Given the description of an element on the screen output the (x, y) to click on. 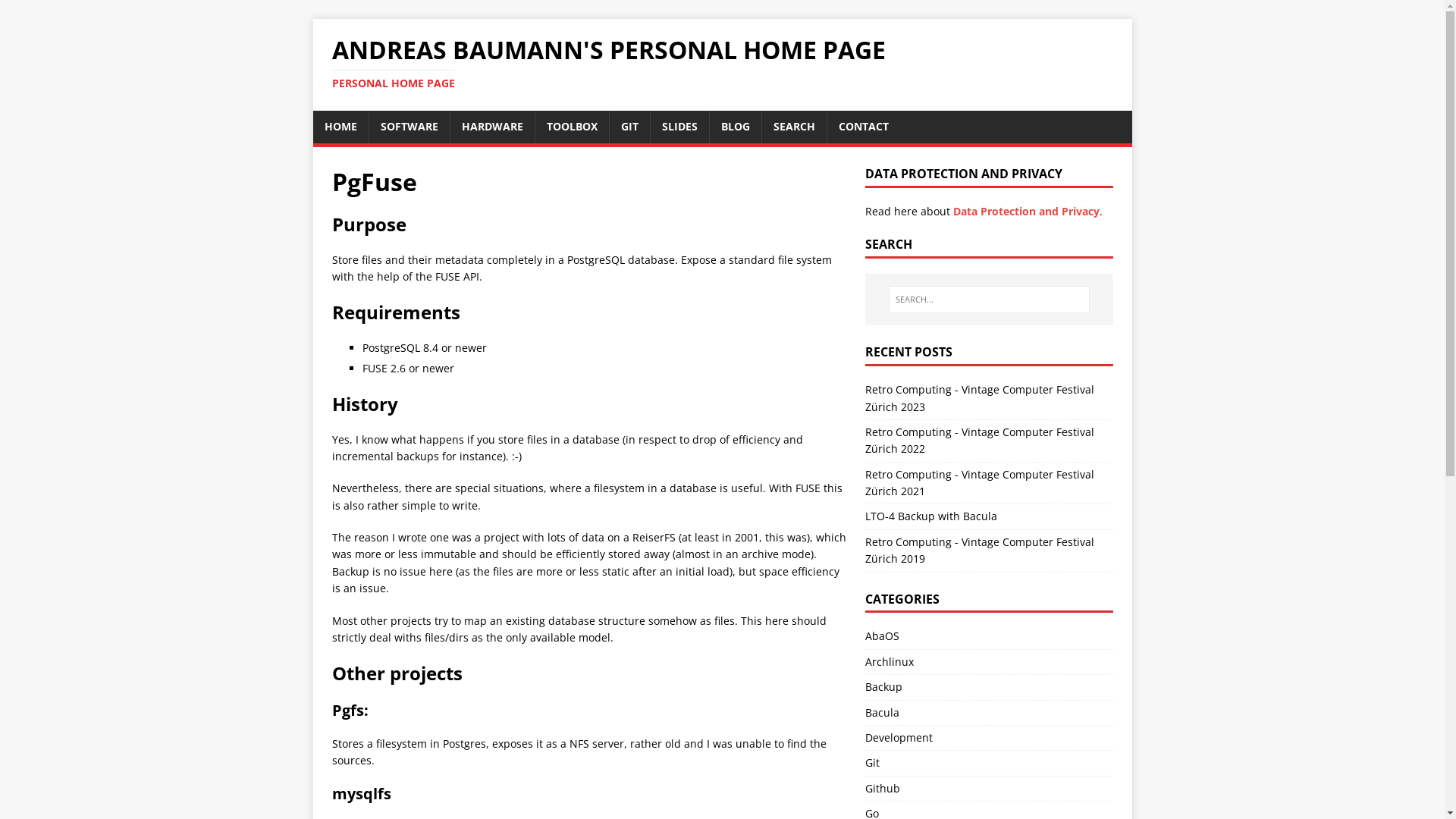
Development Element type: text (898, 737)
CONTACT Element type: text (862, 126)
BLOG Element type: text (735, 126)
SLIDES Element type: text (679, 126)
SOFTWARE Element type: text (408, 126)
AbaOS Element type: text (882, 635)
Bacula Element type: text (882, 712)
Archlinux Element type: text (889, 661)
Data Protection and Privacy Element type: text (1026, 210)
Backup Element type: text (883, 686)
SEARCH Element type: text (793, 126)
Github Element type: text (882, 788)
HOME Element type: text (339, 126)
GIT Element type: text (629, 126)
TOOLBOX Element type: text (571, 126)
ANDREAS BAUMANN'S PERSONAL HOME PAGE
PERSONAL HOME PAGE Element type: text (608, 64)
HARDWARE Element type: text (492, 126)
Search Element type: text (56, 14)
Git Element type: text (872, 762)
LTO-4 Backup with Bacula Element type: text (931, 515)
